Given the description of an element on the screen output the (x, y) to click on. 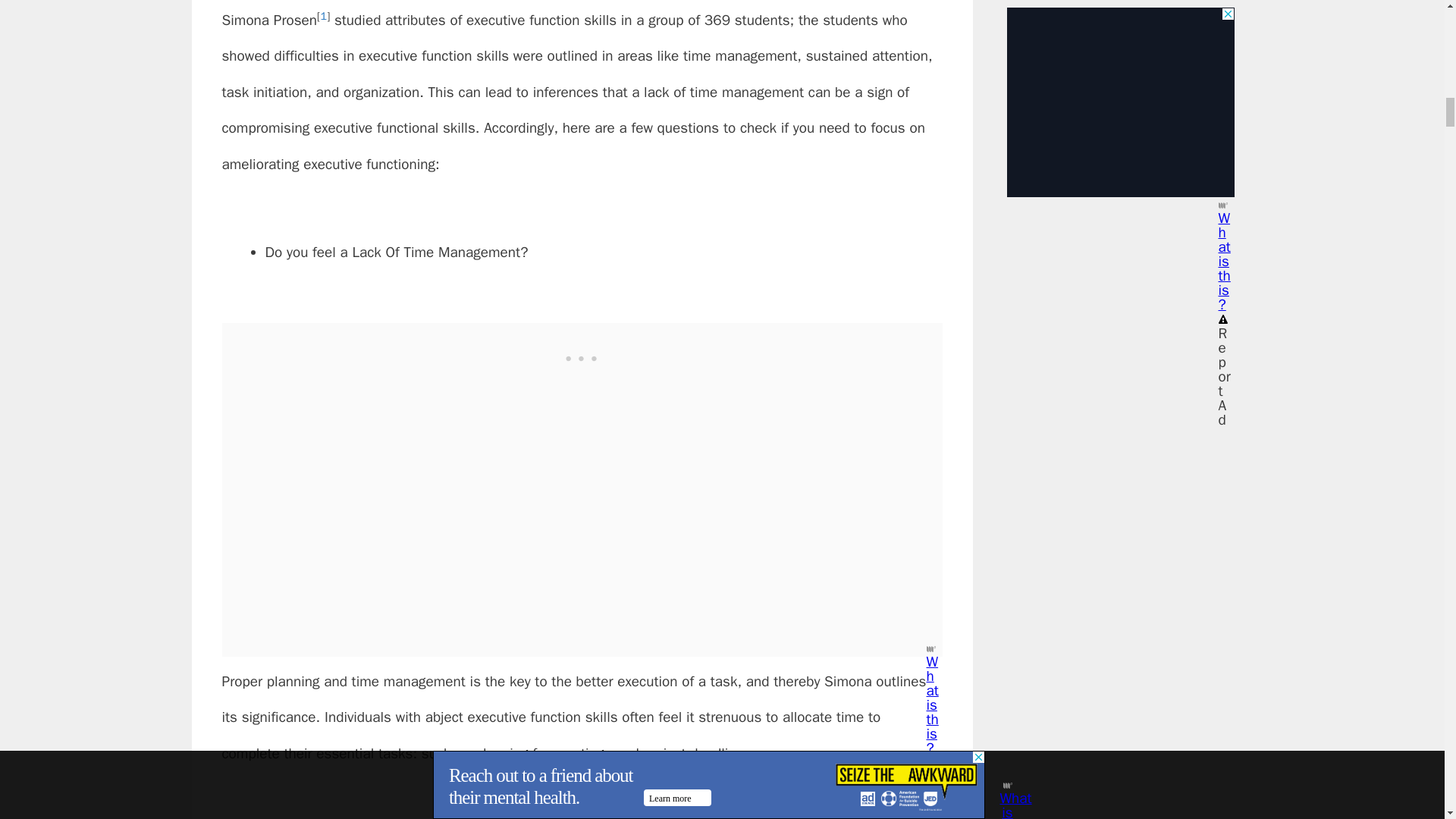
3rd party ad content (582, 356)
